Given the description of an element on the screen output the (x, y) to click on. 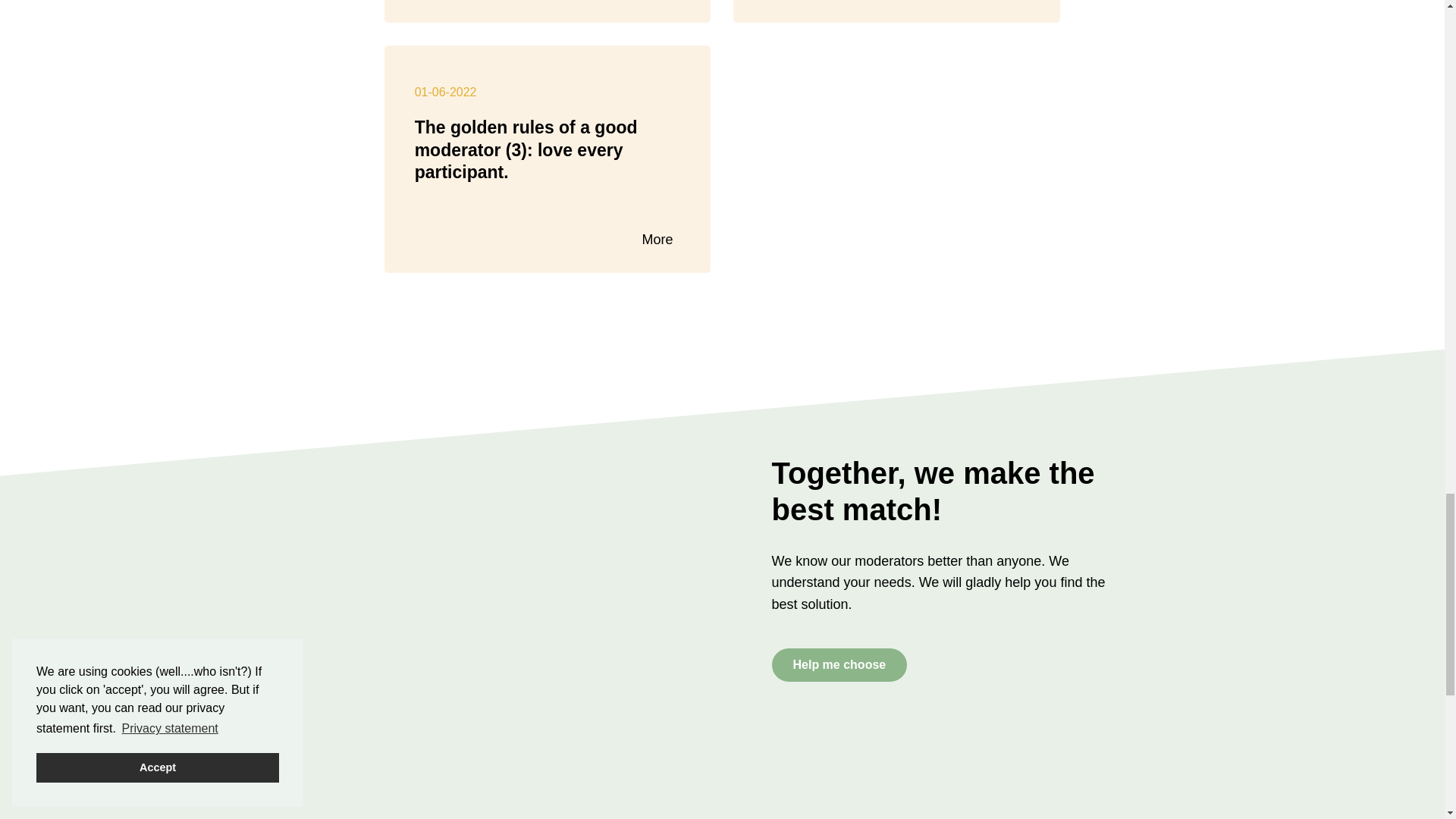
Help me choose (839, 664)
